Given the description of an element on the screen output the (x, y) to click on. 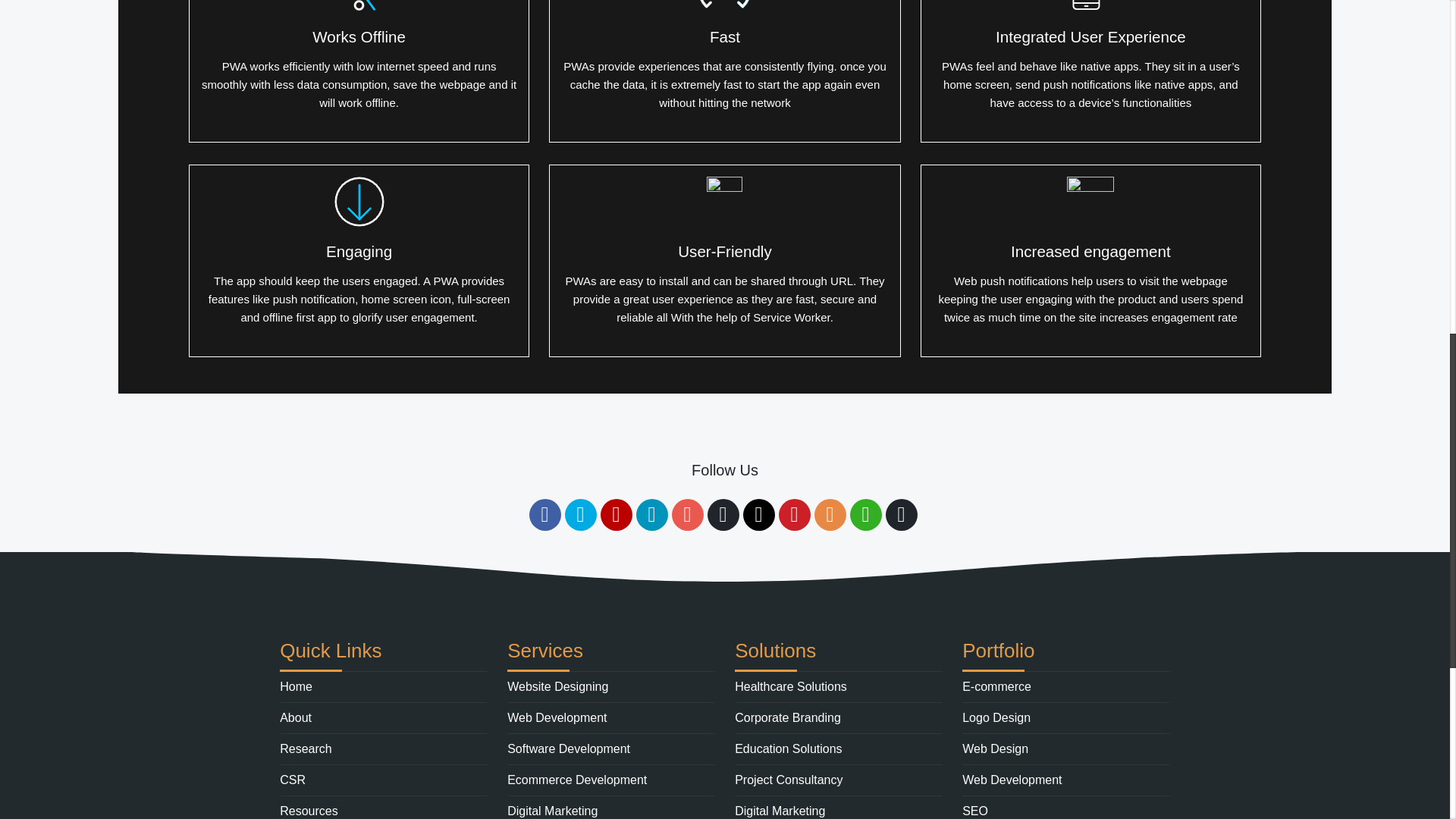
Instagram (687, 514)
Twitter (579, 514)
LinkedIn (650, 514)
YouTube (615, 514)
Facebook (544, 514)
